Given the description of an element on the screen output the (x, y) to click on. 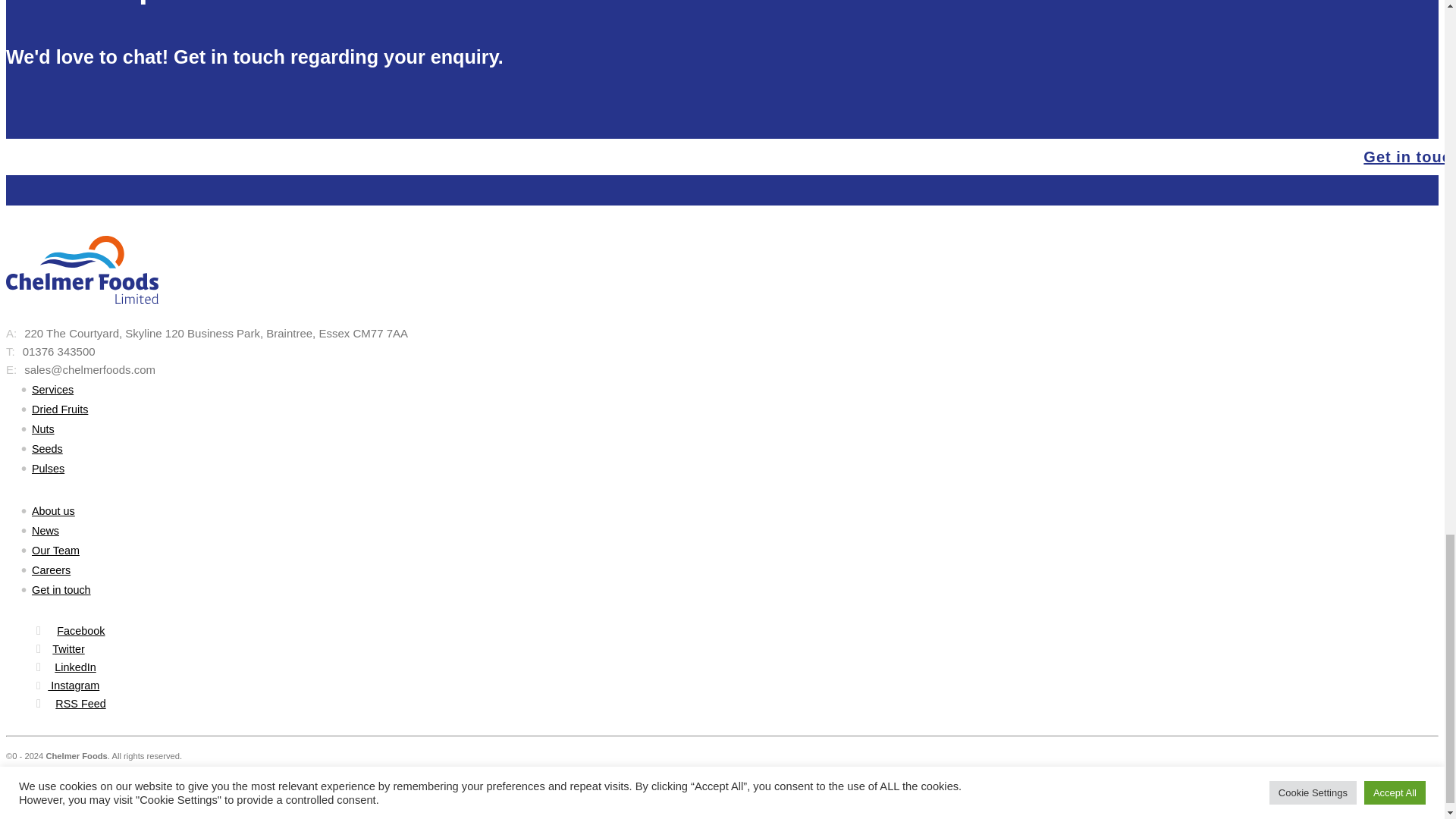
Services (53, 389)
Chelmer Foods (81, 315)
Chelmer Foods on Facebook (80, 630)
Chelmer Foods on LinkedIn (75, 666)
Chelmer Foods (81, 269)
Chelmer Foods on Twitter (68, 648)
Chelmer Foods on Instagram (67, 685)
